Given the description of an element on the screen output the (x, y) to click on. 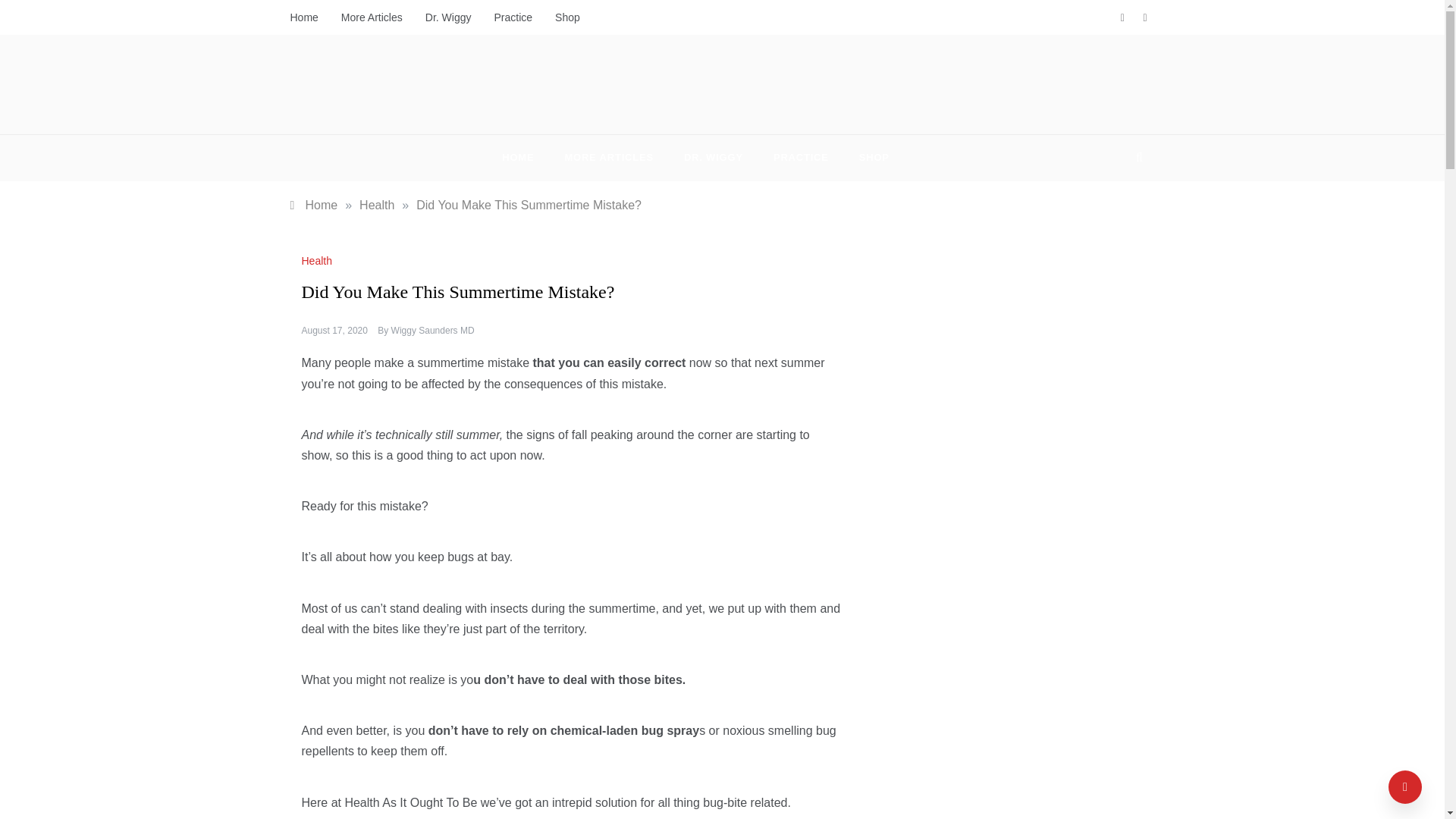
August 17, 2020 (334, 330)
Home (309, 17)
Health (376, 205)
Did You Make This Summertime Mistake? (529, 205)
Shop (561, 17)
DR. WIGGY (713, 157)
Practice (512, 17)
Dr. Wiggy (448, 17)
PRACTICE (801, 157)
HOME (525, 157)
More Articles (371, 17)
SHOP (866, 157)
Home (313, 205)
Go to Top (1405, 786)
Health (318, 260)
